Given the description of an element on the screen output the (x, y) to click on. 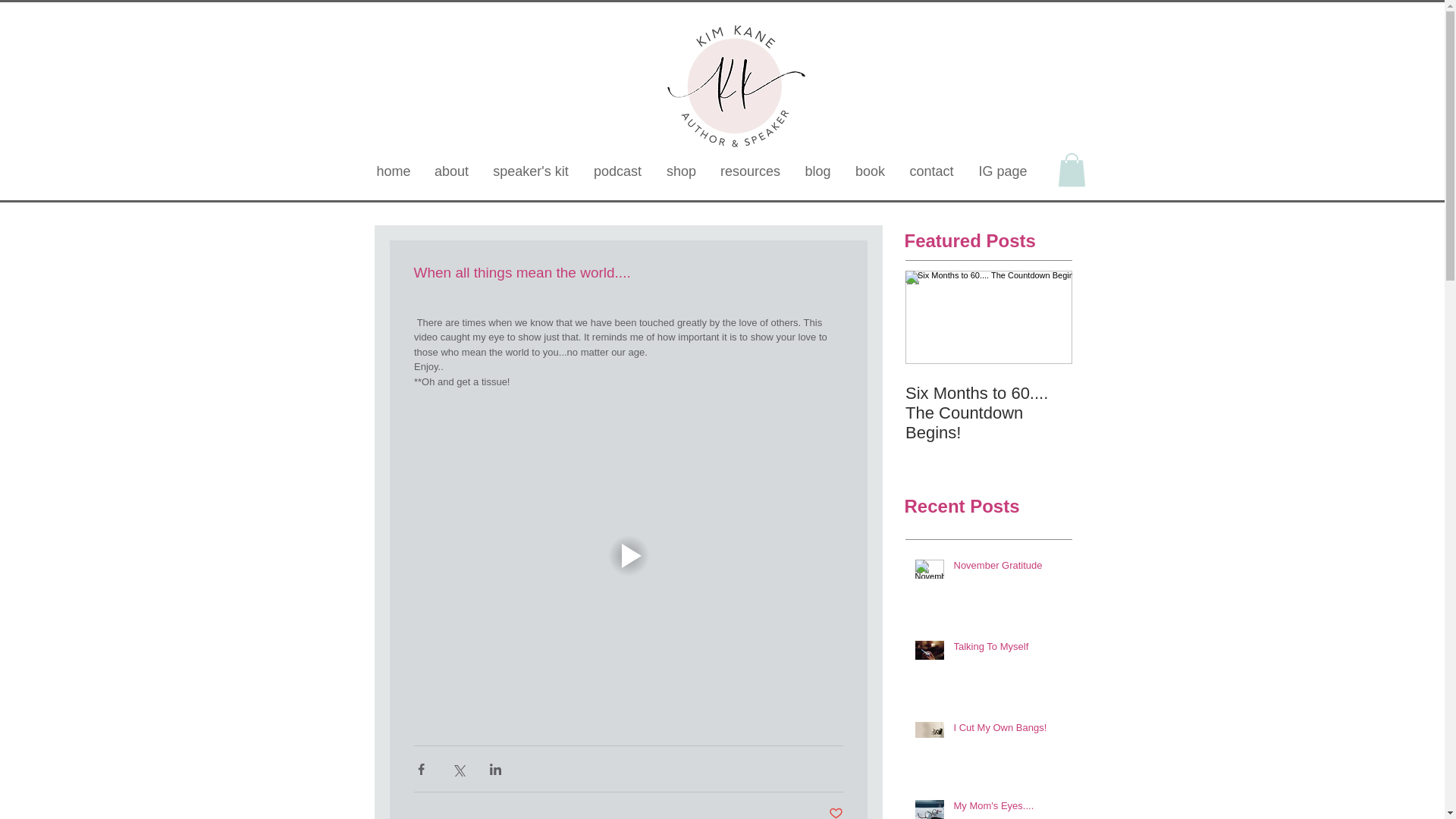
contact (930, 171)
Six Months to 60.... The Countdown Begins! (988, 413)
about (451, 171)
speaker's kit (530, 171)
book (869, 171)
Post not marked as liked (835, 812)
Talking To Myself (1007, 649)
resources (749, 171)
podcast (616, 171)
IG page (1002, 171)
